Given the description of an element on the screen output the (x, y) to click on. 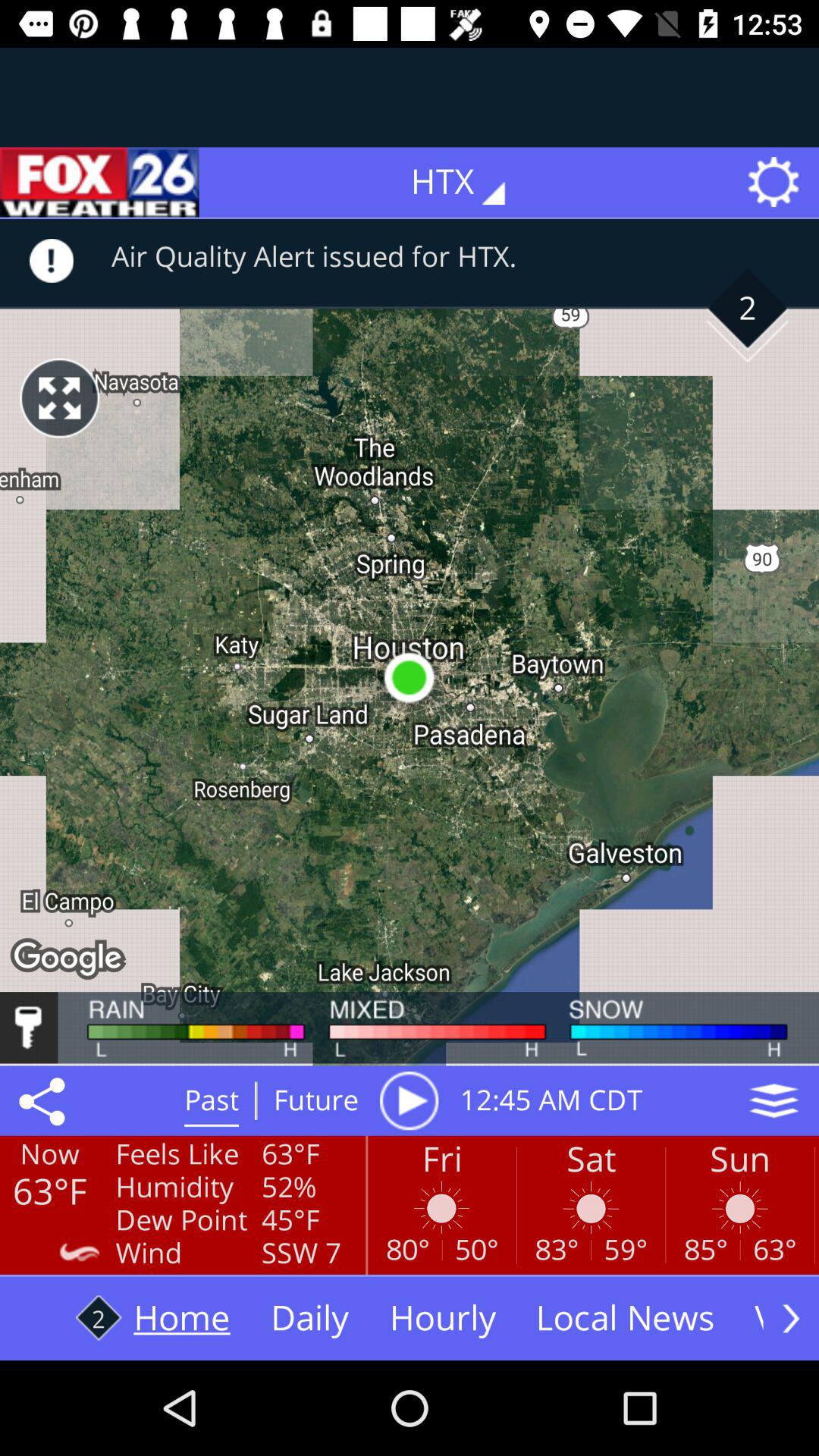
select the icon to the left of the 2 (59, 397)
